Given the description of an element on the screen output the (x, y) to click on. 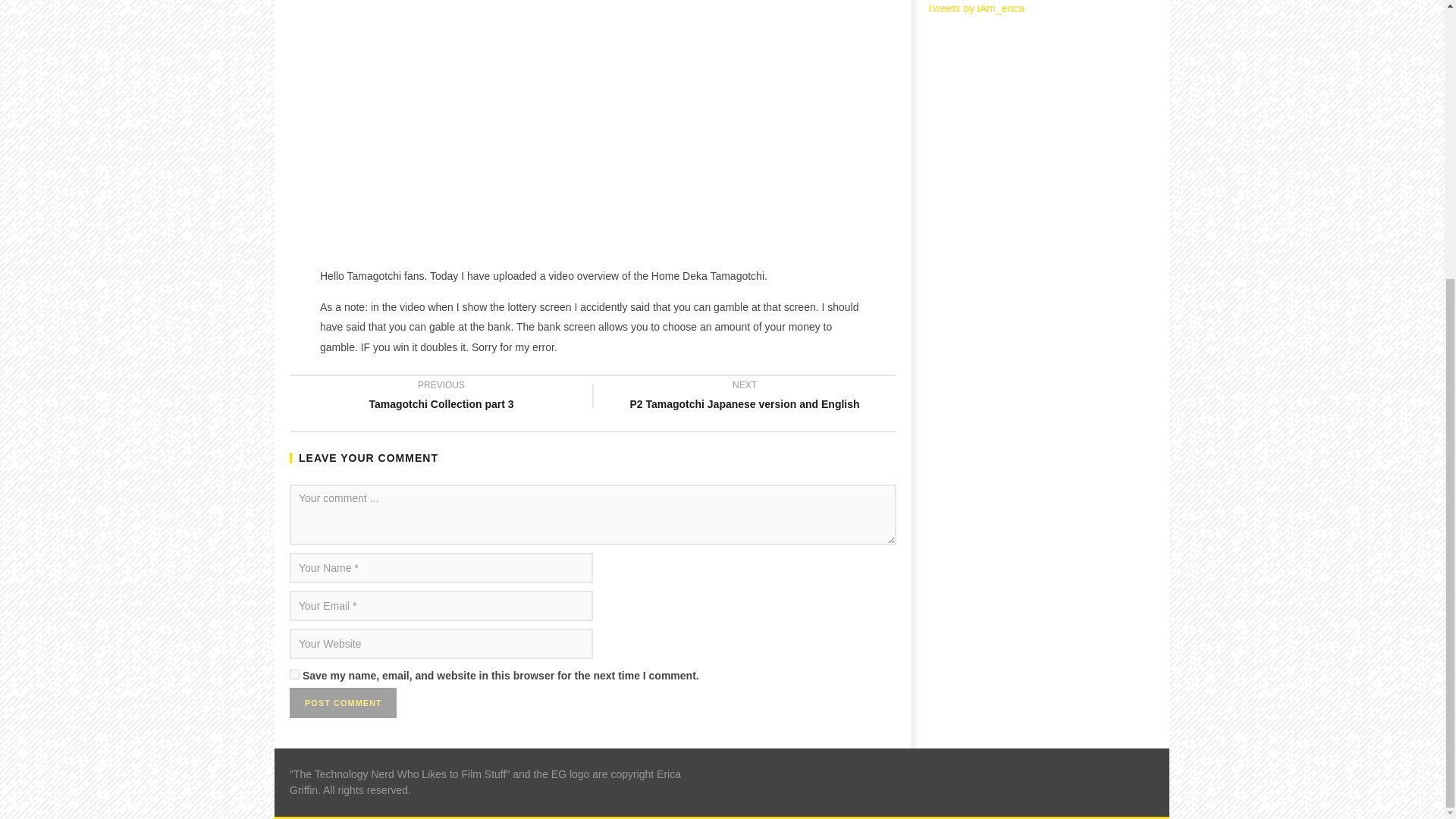
Post Comment (342, 703)
yes (294, 674)
